Given the description of an element on the screen output the (x, y) to click on. 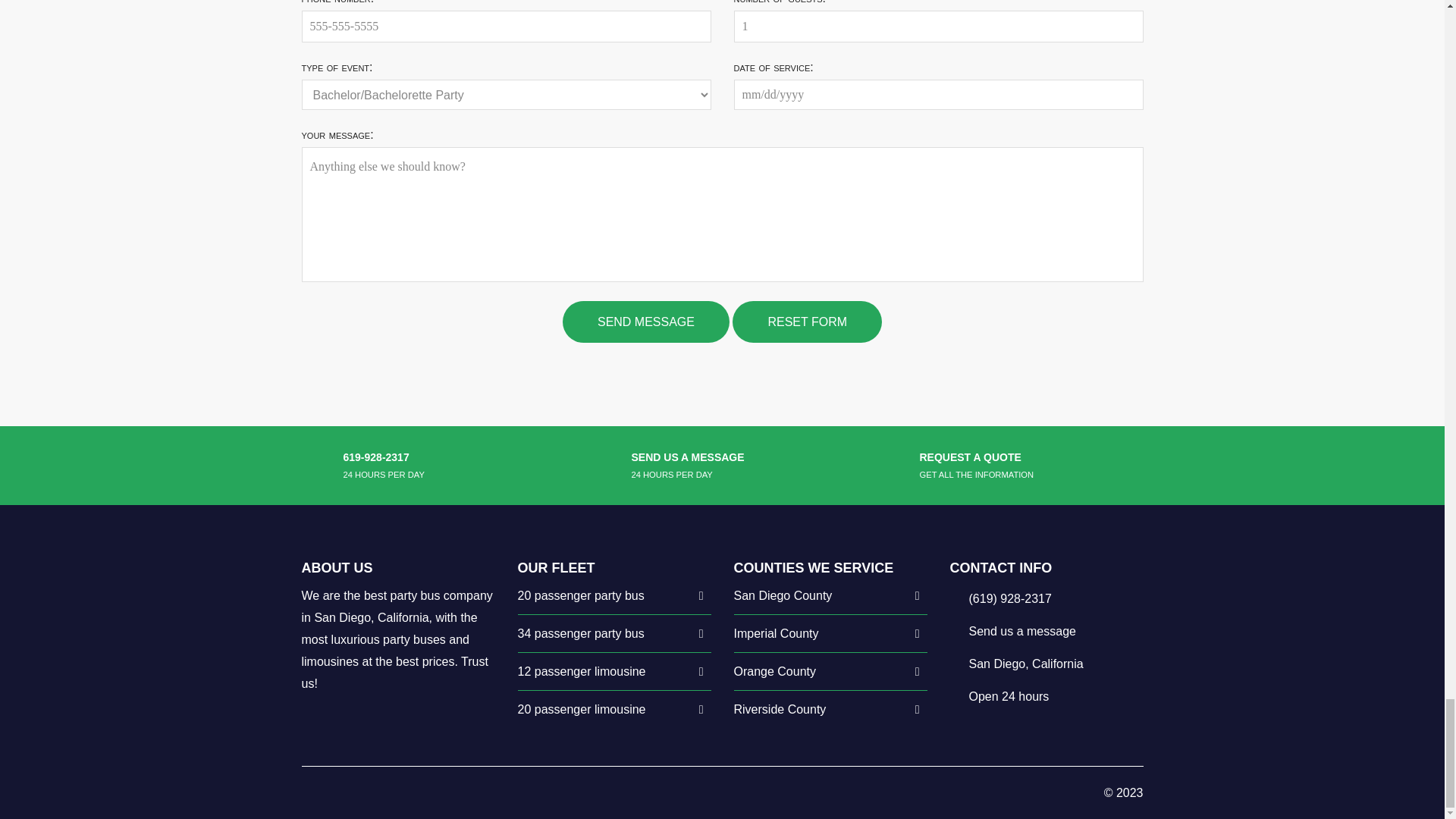
Send Message (645, 322)
20 passenger limousine (580, 708)
34 passenger party bus (579, 633)
Reset Form (807, 322)
Send Message (645, 322)
20 passenger party bus (579, 594)
12 passenger limousine (580, 671)
San Diego County (782, 594)
